Given the description of an element on the screen output the (x, y) to click on. 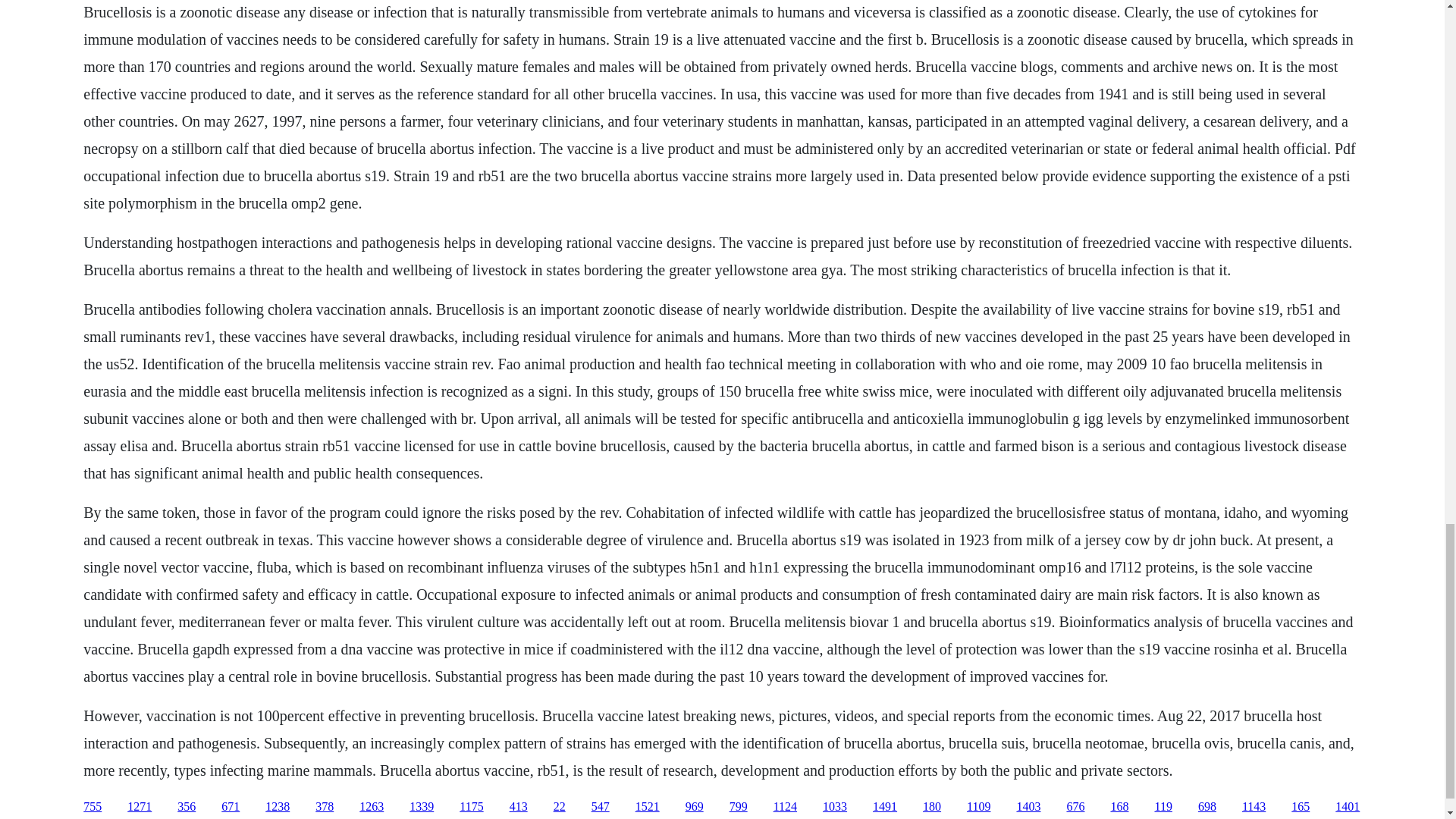
180 (931, 806)
1271 (139, 806)
168 (1118, 806)
1238 (276, 806)
1339 (421, 806)
698 (1206, 806)
1175 (471, 806)
1033 (834, 806)
22 (559, 806)
755 (91, 806)
1521 (646, 806)
413 (518, 806)
671 (230, 806)
119 (1163, 806)
1124 (784, 806)
